Given the description of an element on the screen output the (x, y) to click on. 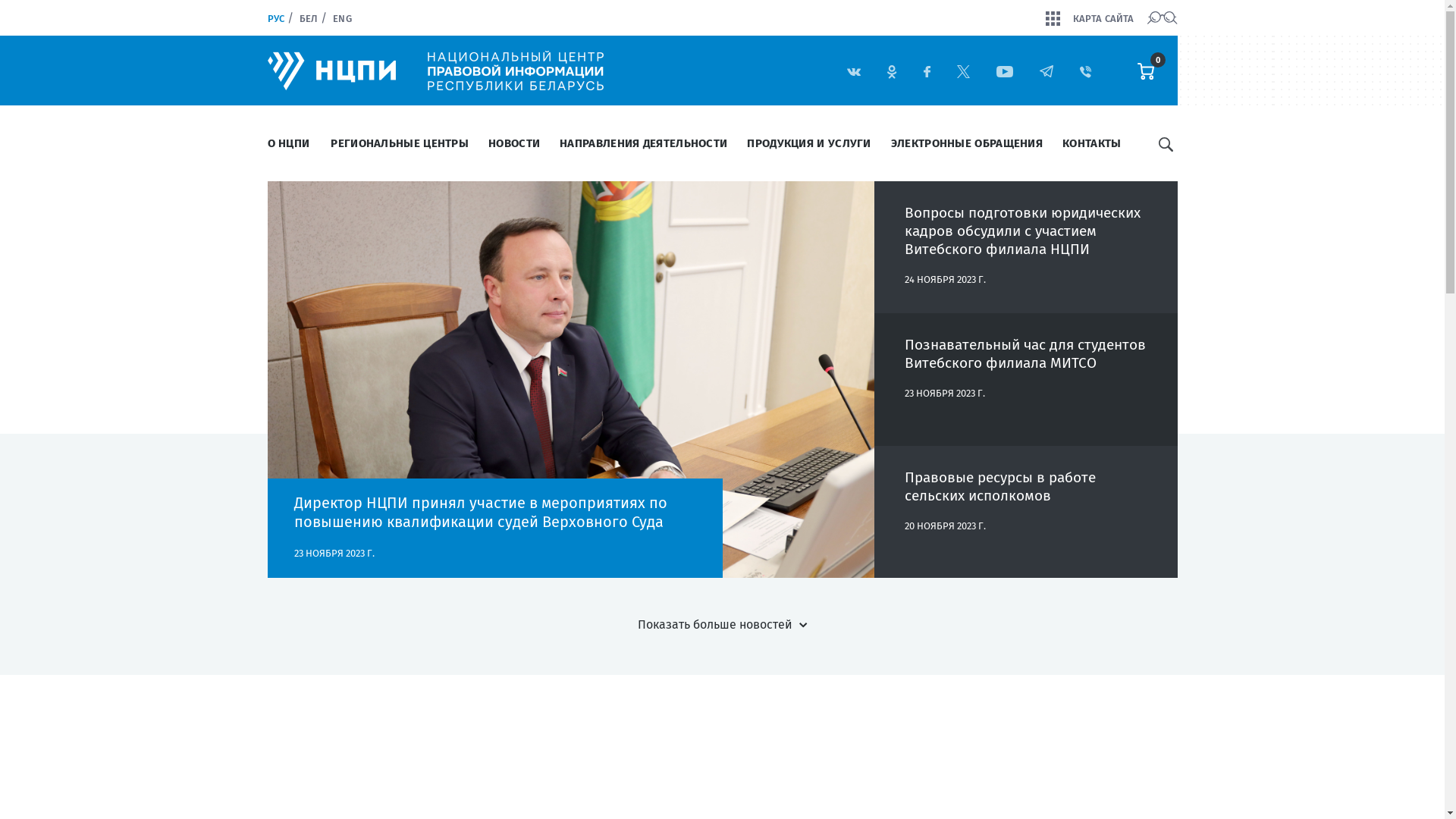
ENG Element type: text (341, 18)
